Given the description of an element on the screen output the (x, y) to click on. 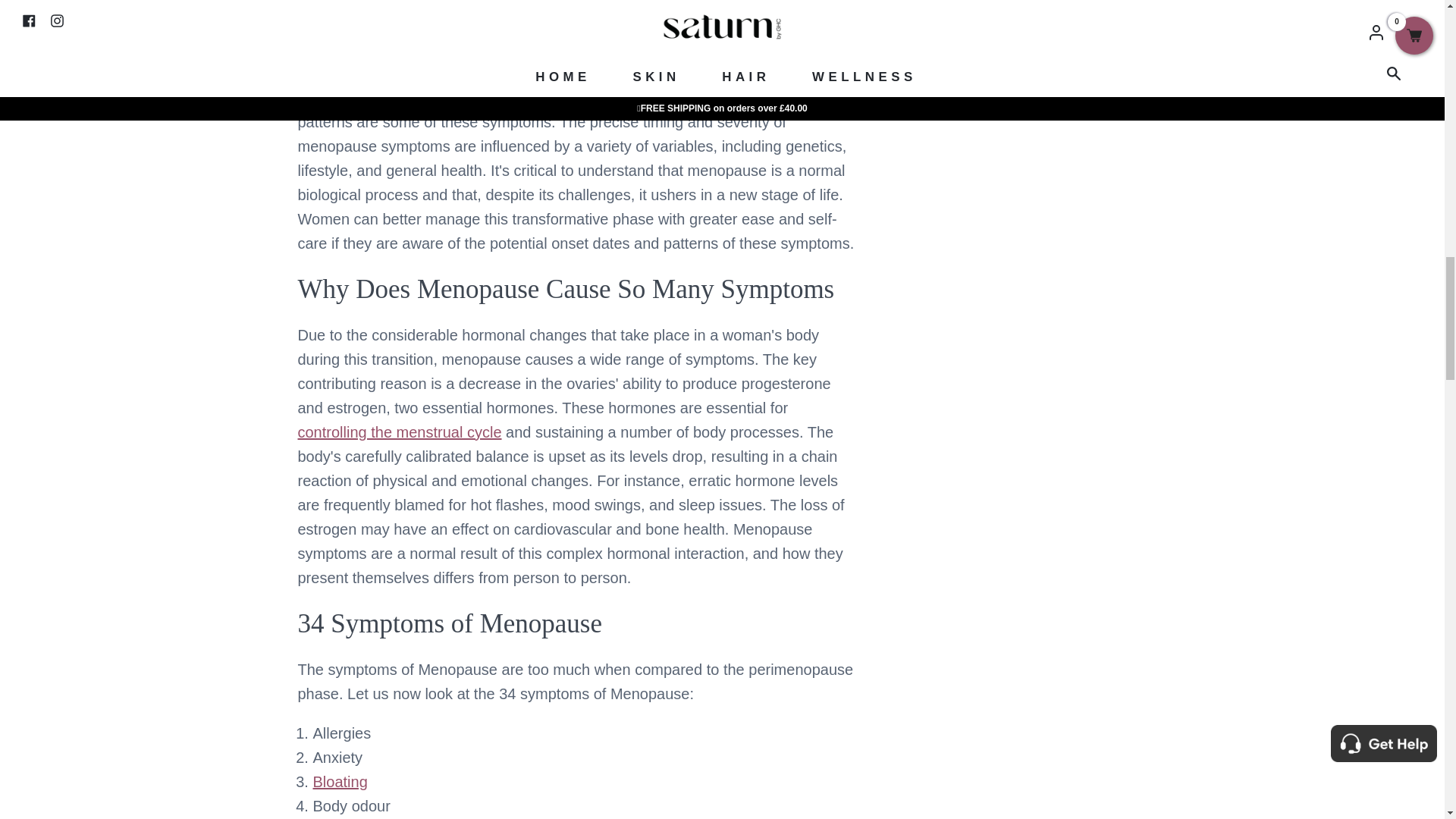
controlling the menstrual cycle (398, 432)
Bloating (339, 781)
irregular menstrual periods (569, 97)
